Given the description of an element on the screen output the (x, y) to click on. 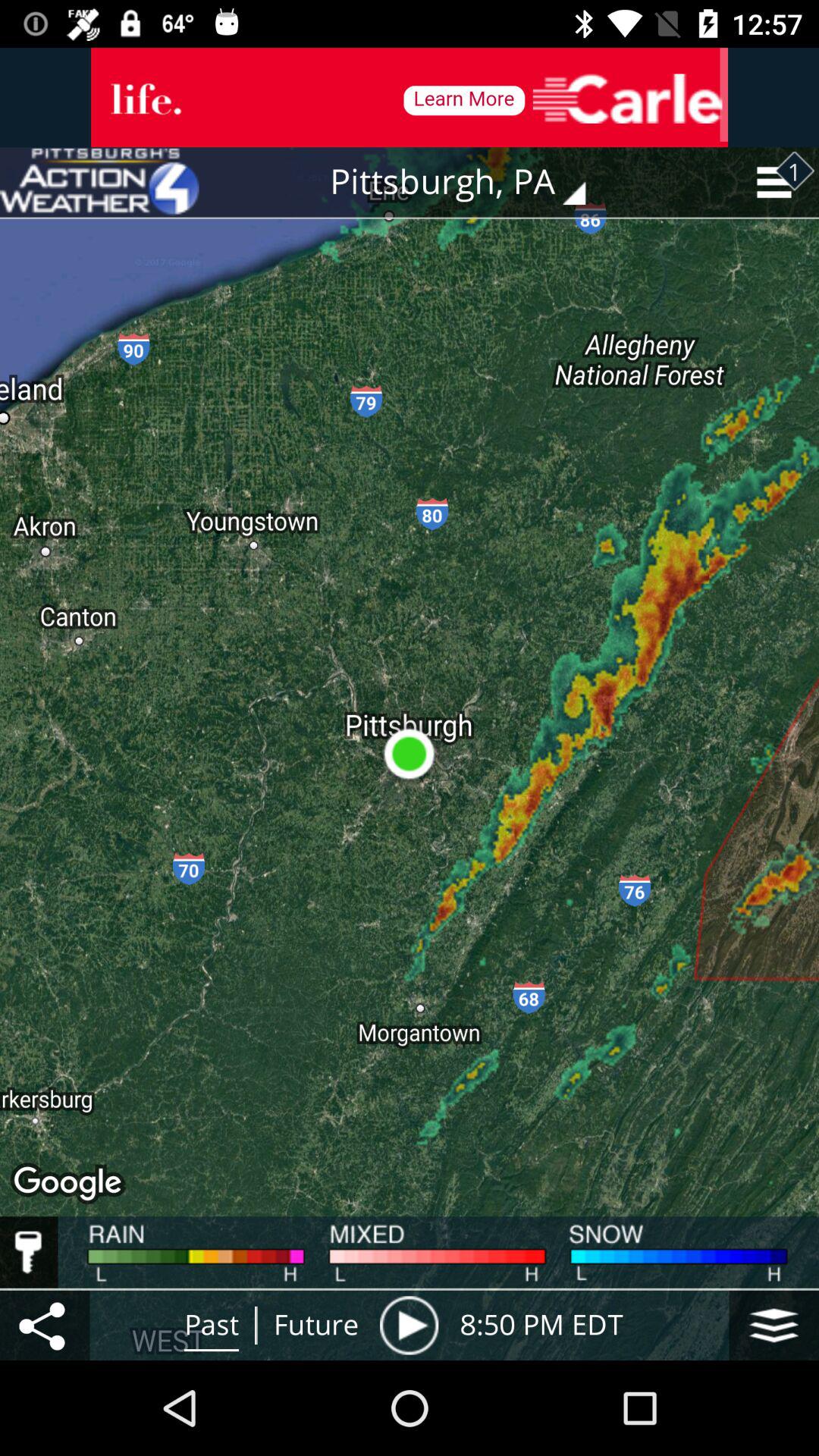
storage (774, 1325)
